Given the description of an element on the screen output the (x, y) to click on. 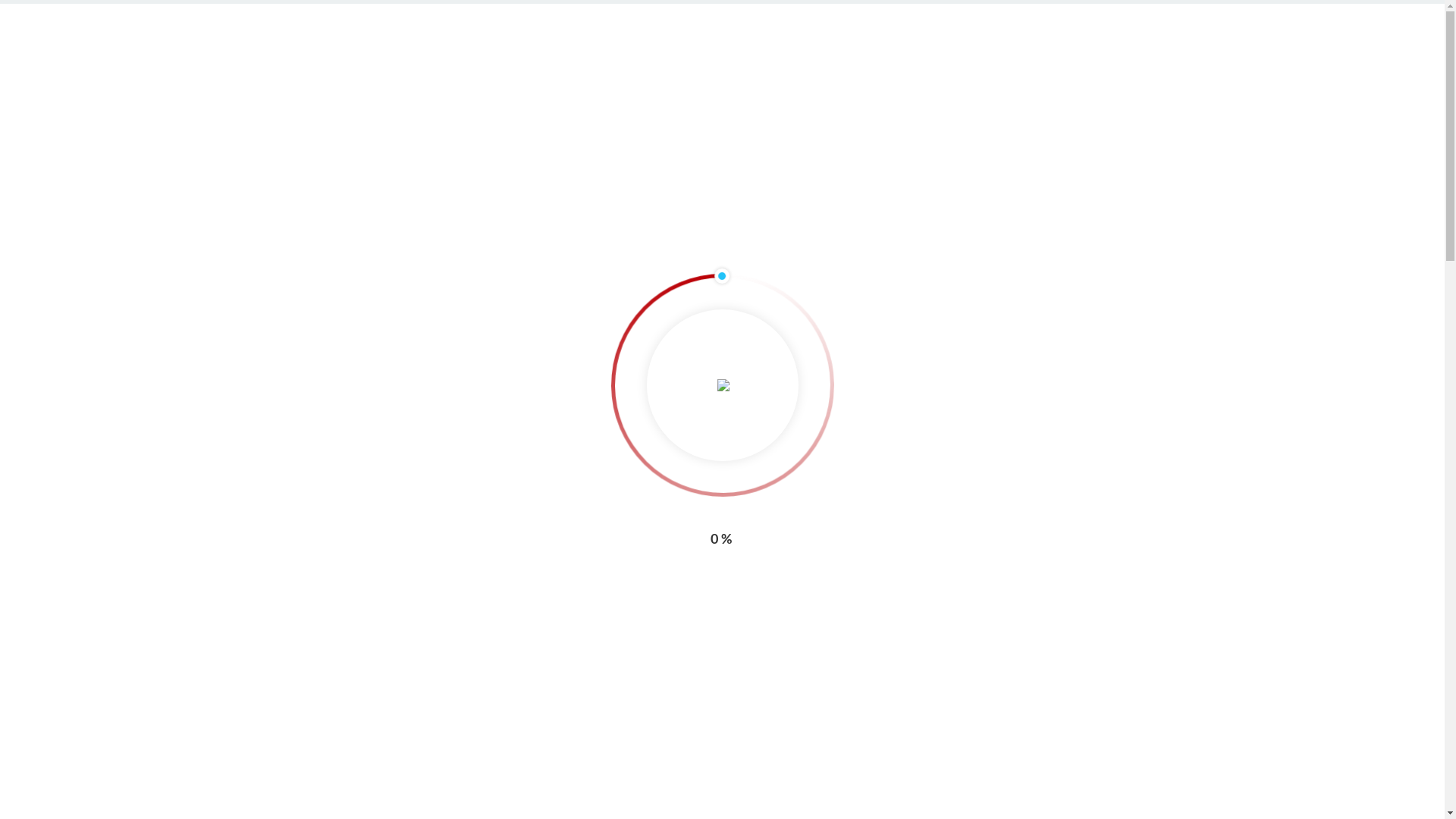
HOME Element type: text (745, 88)
FOOT & ANKLE PAIN Element type: text (409, 19)
CONTACT Element type: text (1126, 88)
Fungal Nail Laser Treatment Element type: text (356, 736)
Muscle Joint Bone Podiatry Element type: hover (346, 77)
About us Element type: text (314, 618)
Conditions Treated Element type: text (330, 771)
Diabetic Foot Care Element type: text (336, 670)
CONDITIONS TREATED Element type: text (947, 88)
About Us Element type: text (304, 600)
Foot & Ankle Pain Element type: text (333, 692)
ORTHOTICS Element type: text (321, 19)
Home Element type: text (292, 207)
SERVICES Element type: text (822, 88)
BLOG Element type: text (1054, 88)
Book Online Element type: text (1106, 15)
Foot Orthotics Element type: text (327, 714)
Services Element type: text (353, 207)
Plantar Fasciitis Treatment Element type: text (354, 811)
Heel Pain Treatment Element type: text (339, 789)
Services Element type: text (302, 653)
DIABETIC FOOT CARE Element type: text (670, 19)
FUNGAL NAIL LASER TREATMENT Element type: text (538, 19)
03 9442 2912 Element type: text (1017, 16)
